Given the description of an element on the screen output the (x, y) to click on. 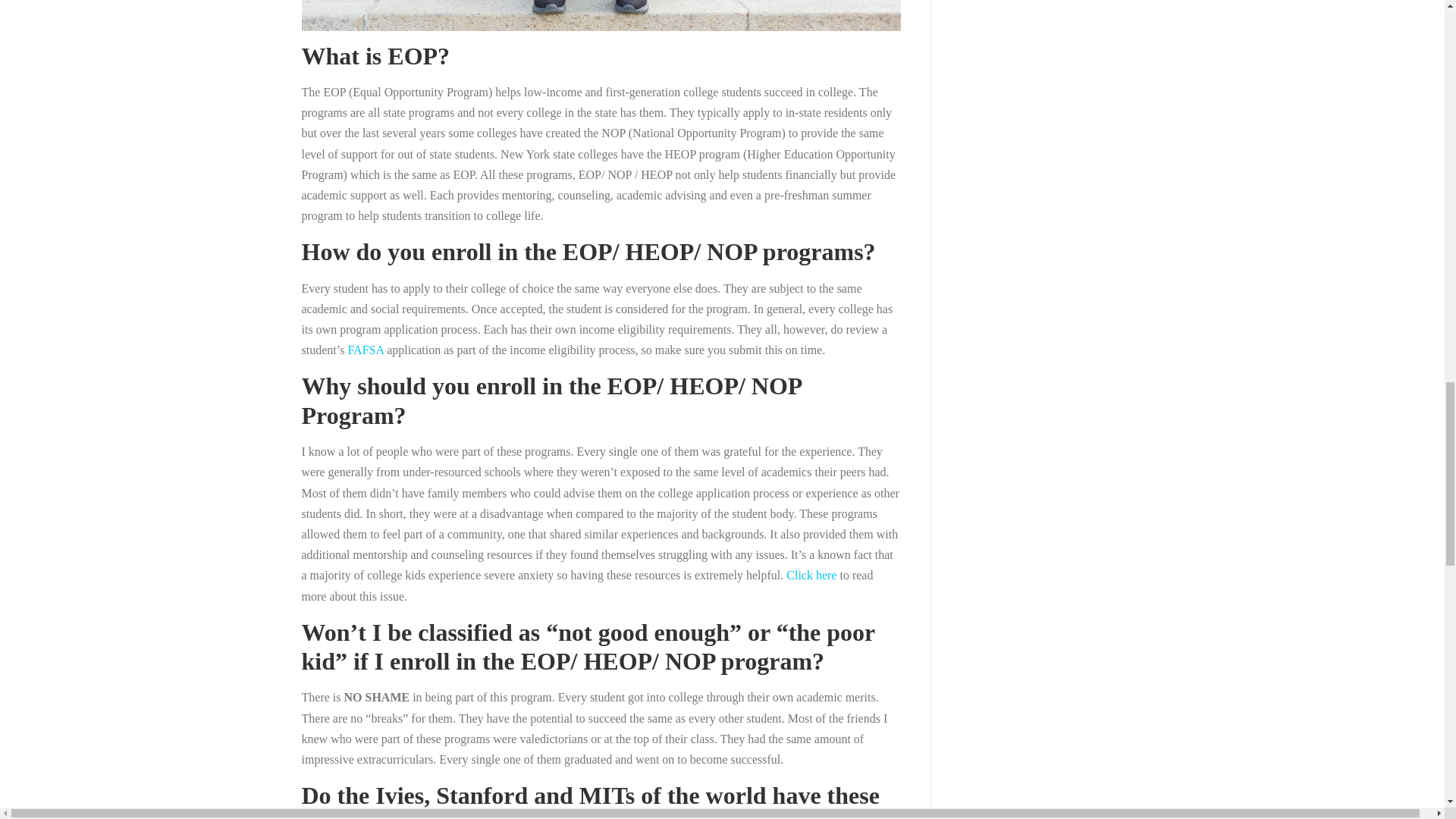
FAFSA (365, 349)
Click here (810, 574)
